Given the description of an element on the screen output the (x, y) to click on. 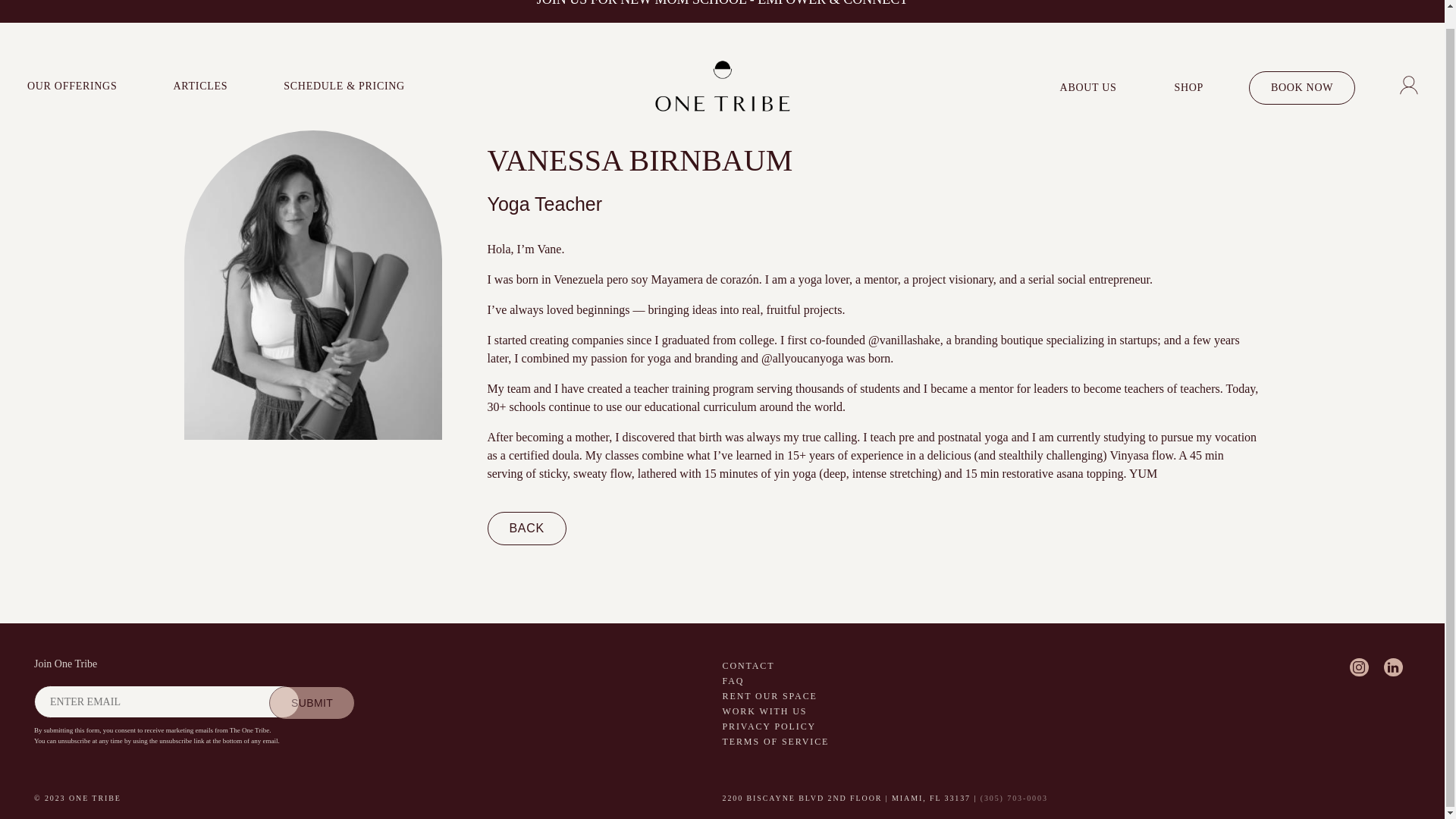
BOOK NOW (1302, 69)
CONTACT (892, 665)
WORK WITH US (892, 711)
Home (721, 68)
account (1408, 72)
PREVIOUS (7, 9)
FAQ (892, 680)
ABOUT US (1088, 69)
Submit (312, 702)
SHOP (1188, 69)
RENT OUR SPACE (892, 695)
ARTICLES (200, 68)
OUR OFFERINGS (71, 68)
BACK (526, 528)
JOIN US FOR NEW MOM SCHOOL (641, 3)
